Given the description of an element on the screen output the (x, y) to click on. 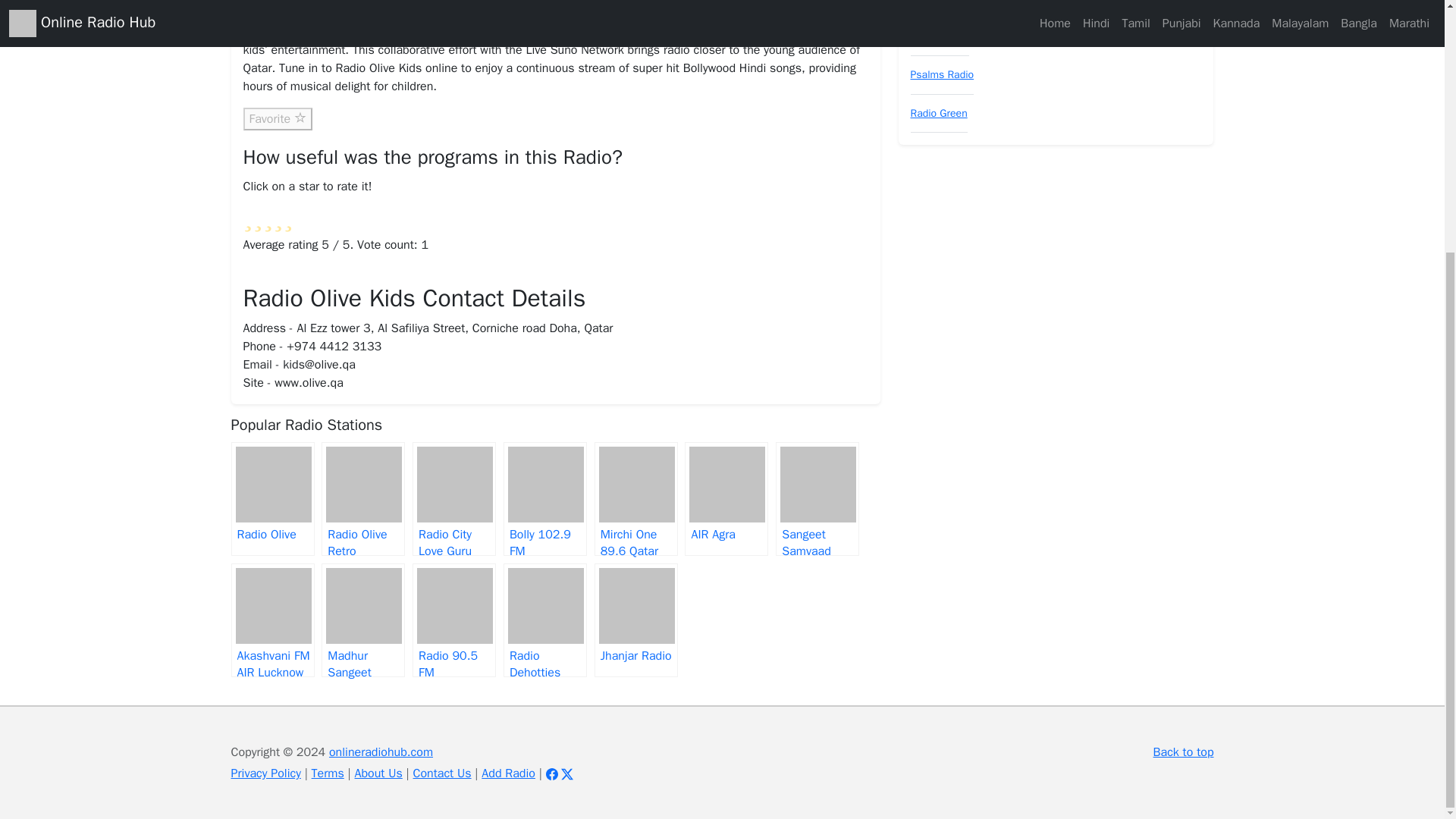
Radio Macfast (943, 2)
Radio Kerala (939, 36)
Favorite (277, 118)
Radio Green (938, 113)
Psalms Radio (942, 74)
